Given the description of an element on the screen output the (x, y) to click on. 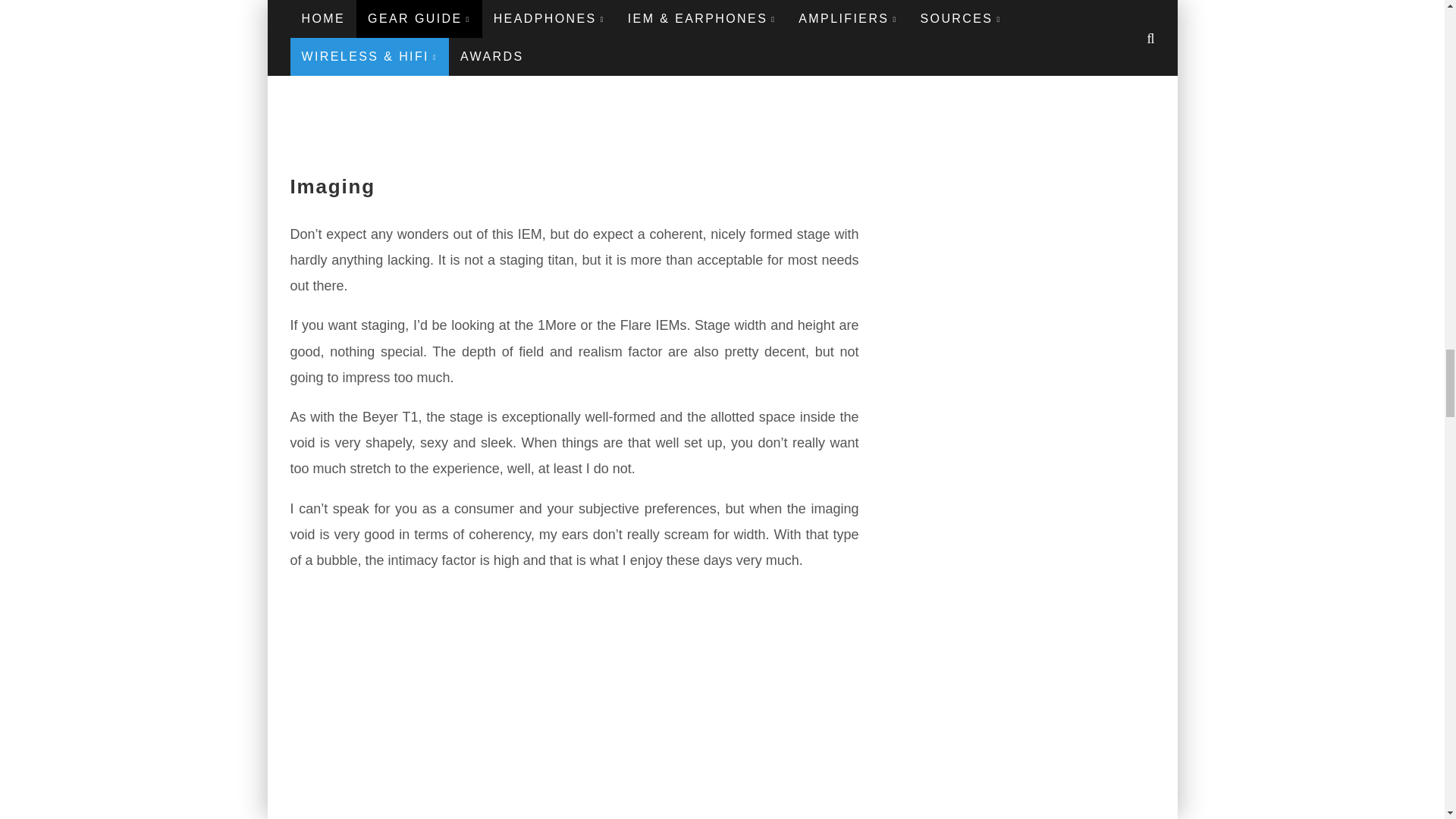
ANC (574, 76)
ANC (574, 703)
